Given the description of an element on the screen output the (x, y) to click on. 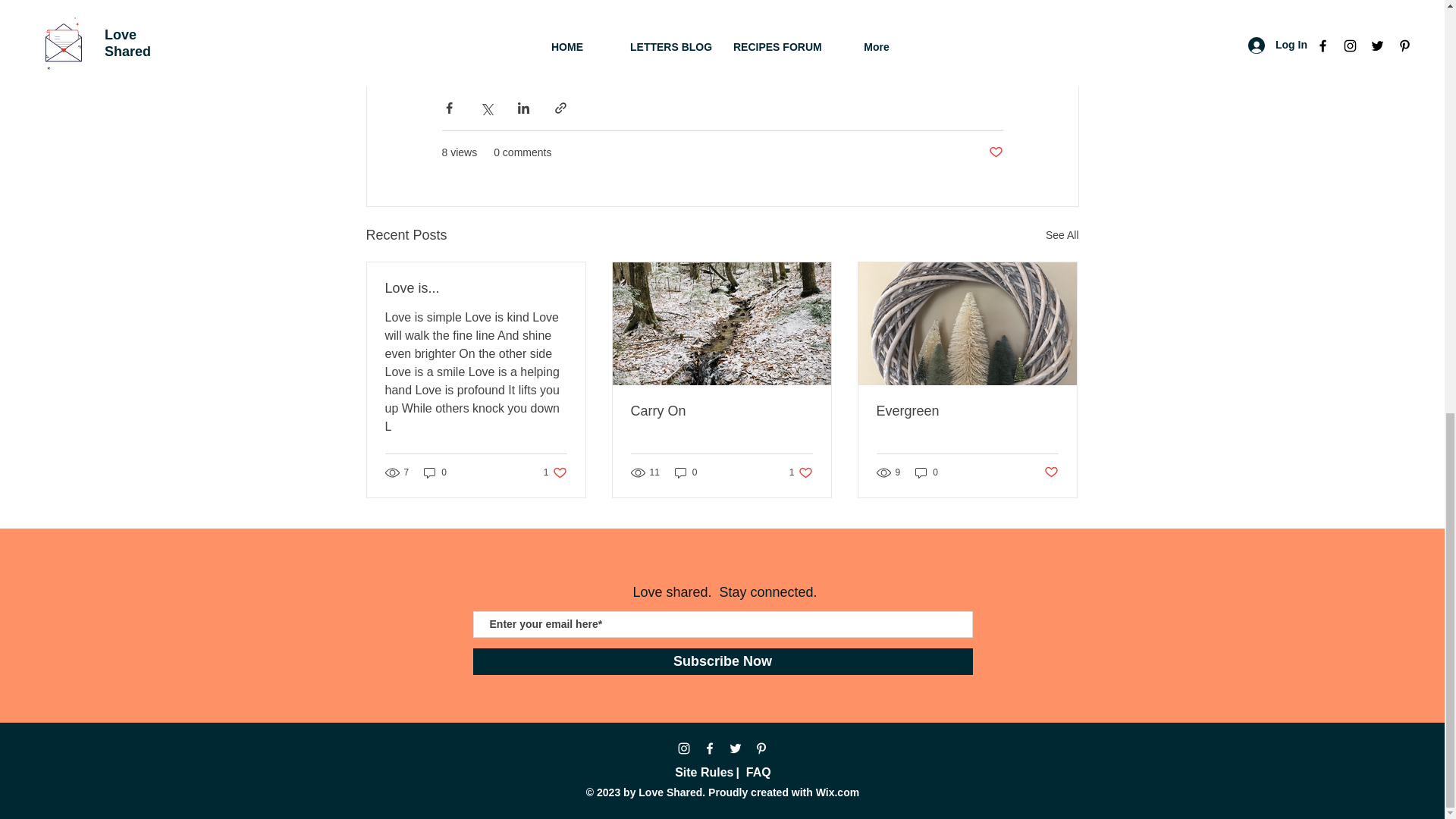
0 (685, 472)
Love is... (476, 288)
Carry On (555, 472)
Site Rules (721, 411)
0 (704, 771)
Subscribe Now (435, 472)
0 (722, 661)
Post not marked as liked (926, 472)
Evergreen (995, 152)
Post not marked as liked (800, 472)
See All (967, 411)
